Given the description of an element on the screen output the (x, y) to click on. 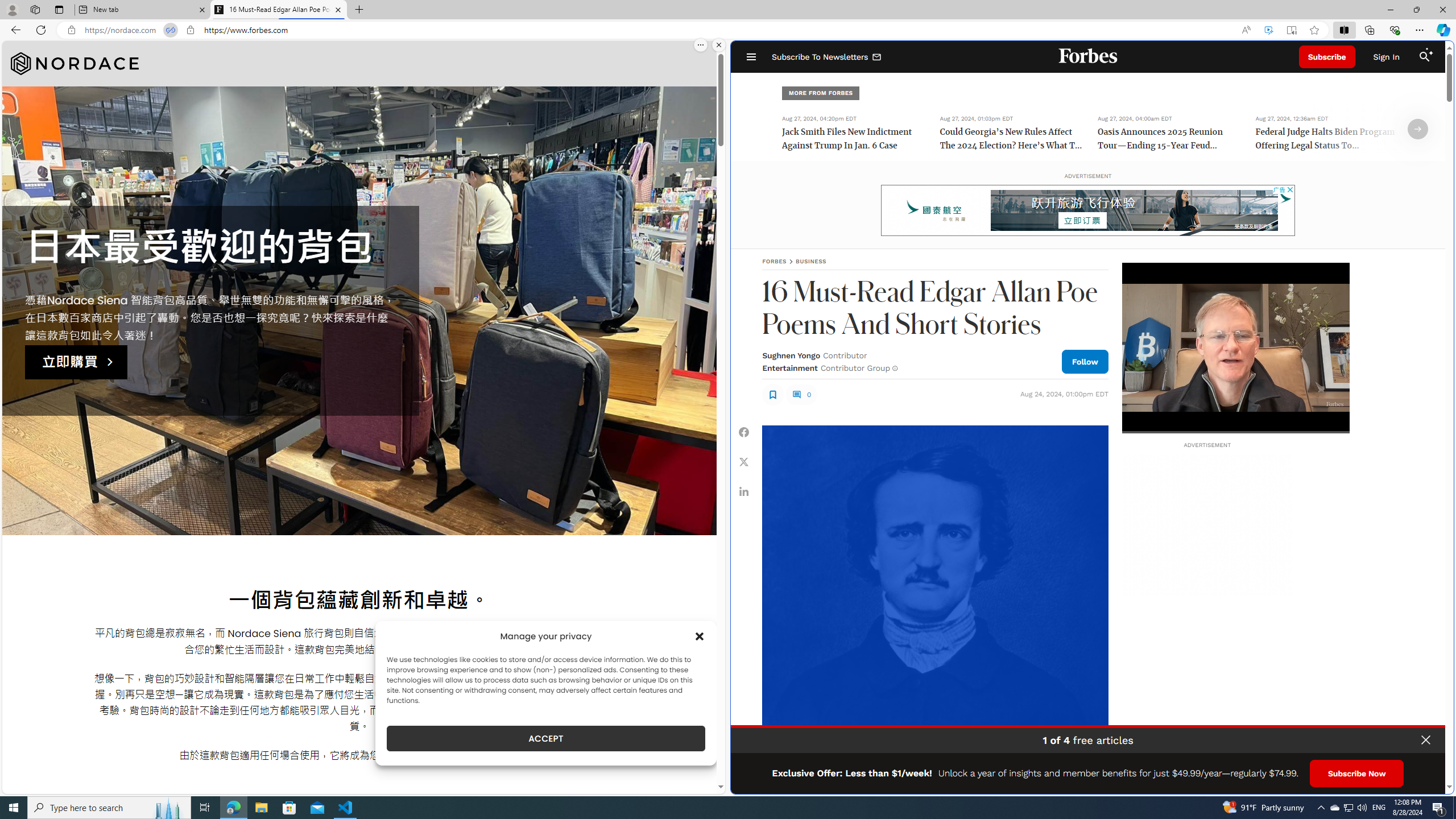
Class: fs-icon fs-icon--linkedin (743, 490)
Copilot (Ctrl+Shift+.) (1442, 29)
Back (13, 29)
Split screen (1344, 29)
Personal Profile (12, 9)
Class: envelope_svg__fs-icon envelope_svg__fs-icon--envelope (877, 57)
Subscribe To Newsletters (826, 56)
Settings and more (Alt+F) (1419, 29)
Restore (1416, 9)
Workspaces (34, 9)
BUSINESS (810, 261)
Tab actions menu (58, 9)
Class: search_svg__fs-icon search_svg__fs-icon--search (1424, 56)
Class: fs-icon fs-icon--xCorp (743, 461)
Seek (1235, 431)
